Given the description of an element on the screen output the (x, y) to click on. 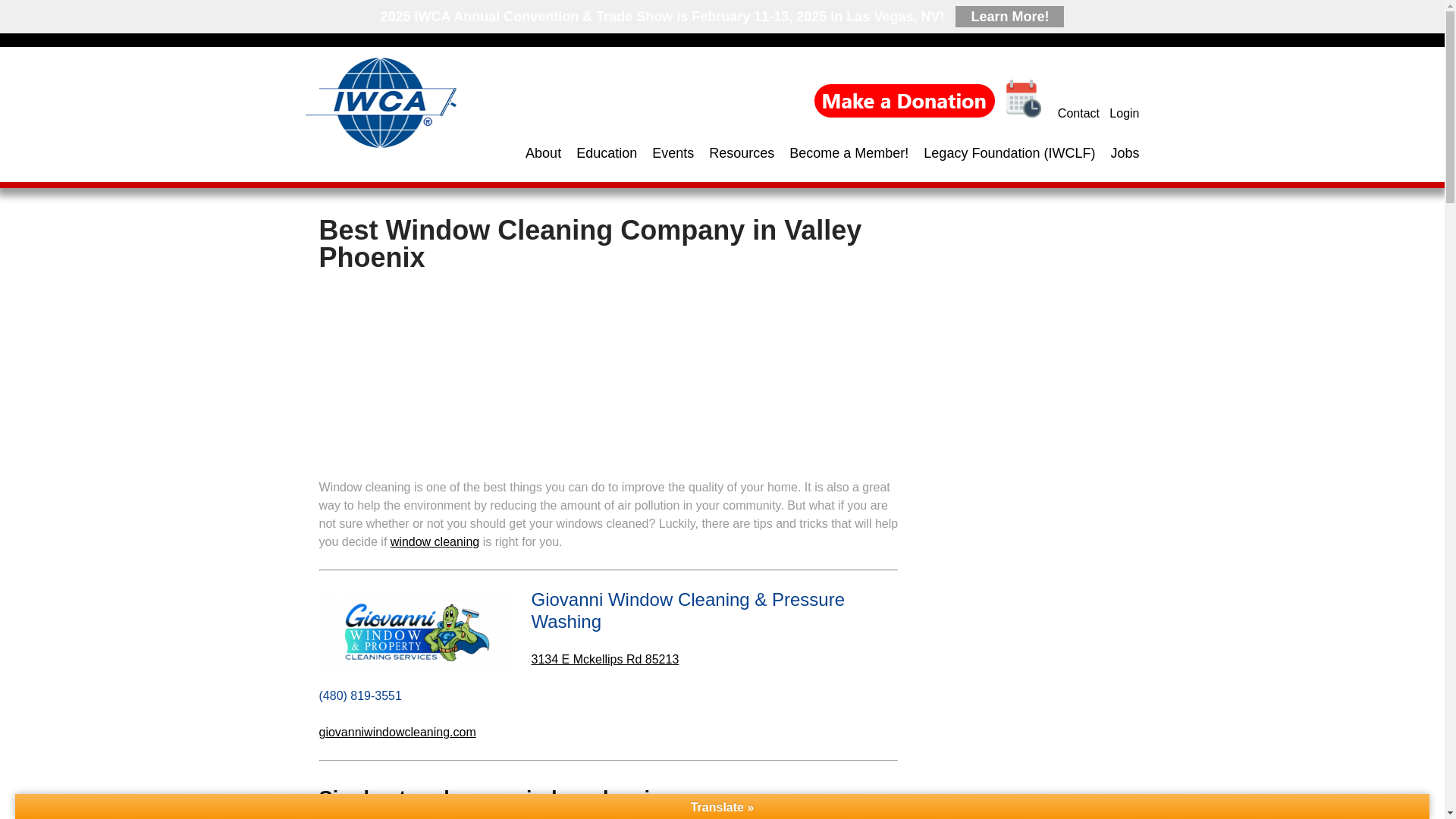
About (535, 153)
Contact (1078, 113)
Events (665, 153)
Education (598, 153)
Login (1123, 113)
Resources (734, 153)
